Given the description of an element on the screen output the (x, y) to click on. 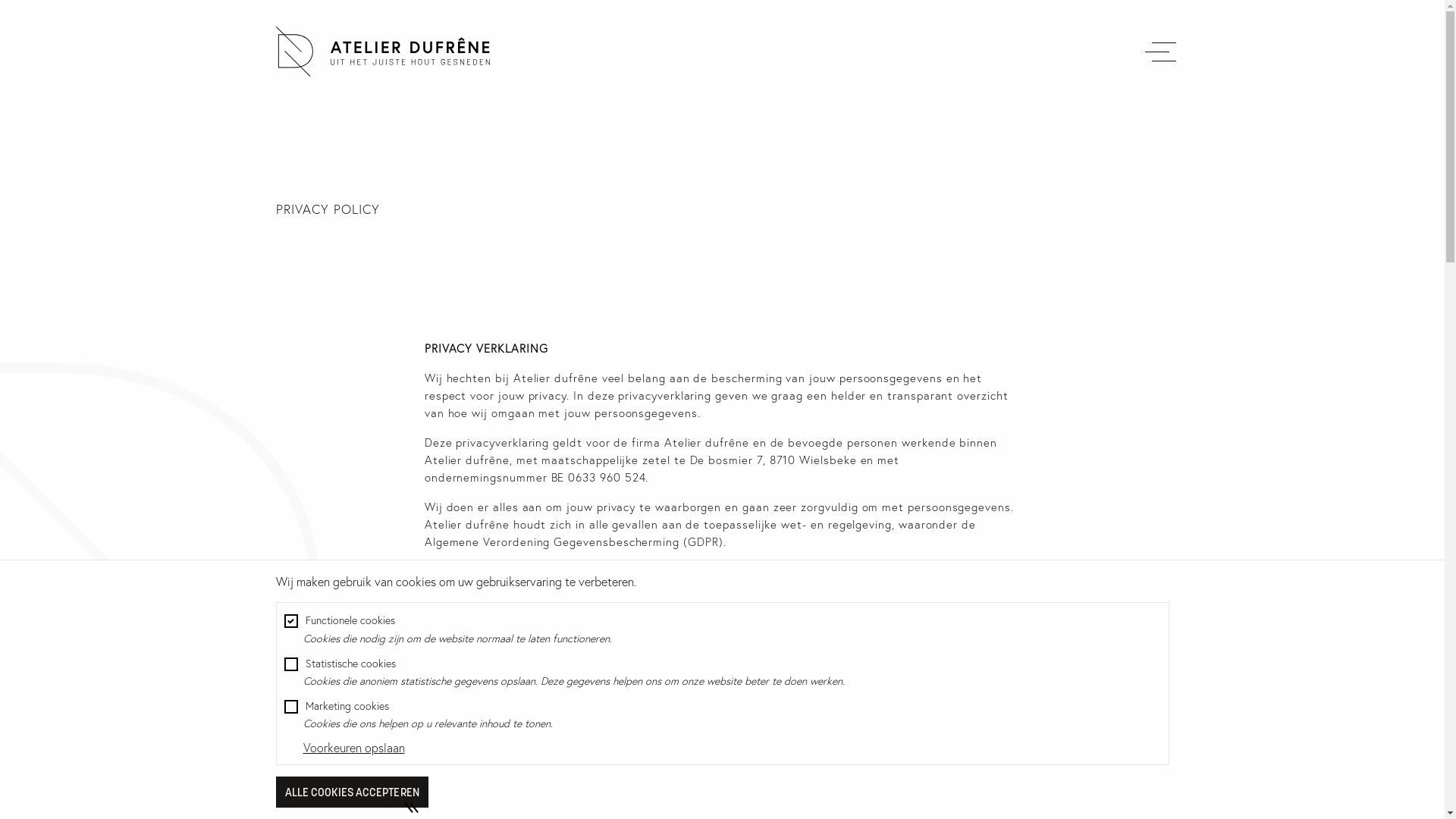
Skip to main content Element type: text (0, 0)
TOESTEMMING INTREKKEN Element type: text (437, 783)
ALLE COOKIES ACCEPTEREN Element type: text (352, 791)
4.0 Realisaties Element type: text (382, 71)
Voorkeuren opslaan Element type: text (353, 747)
